Given the description of an element on the screen output the (x, y) to click on. 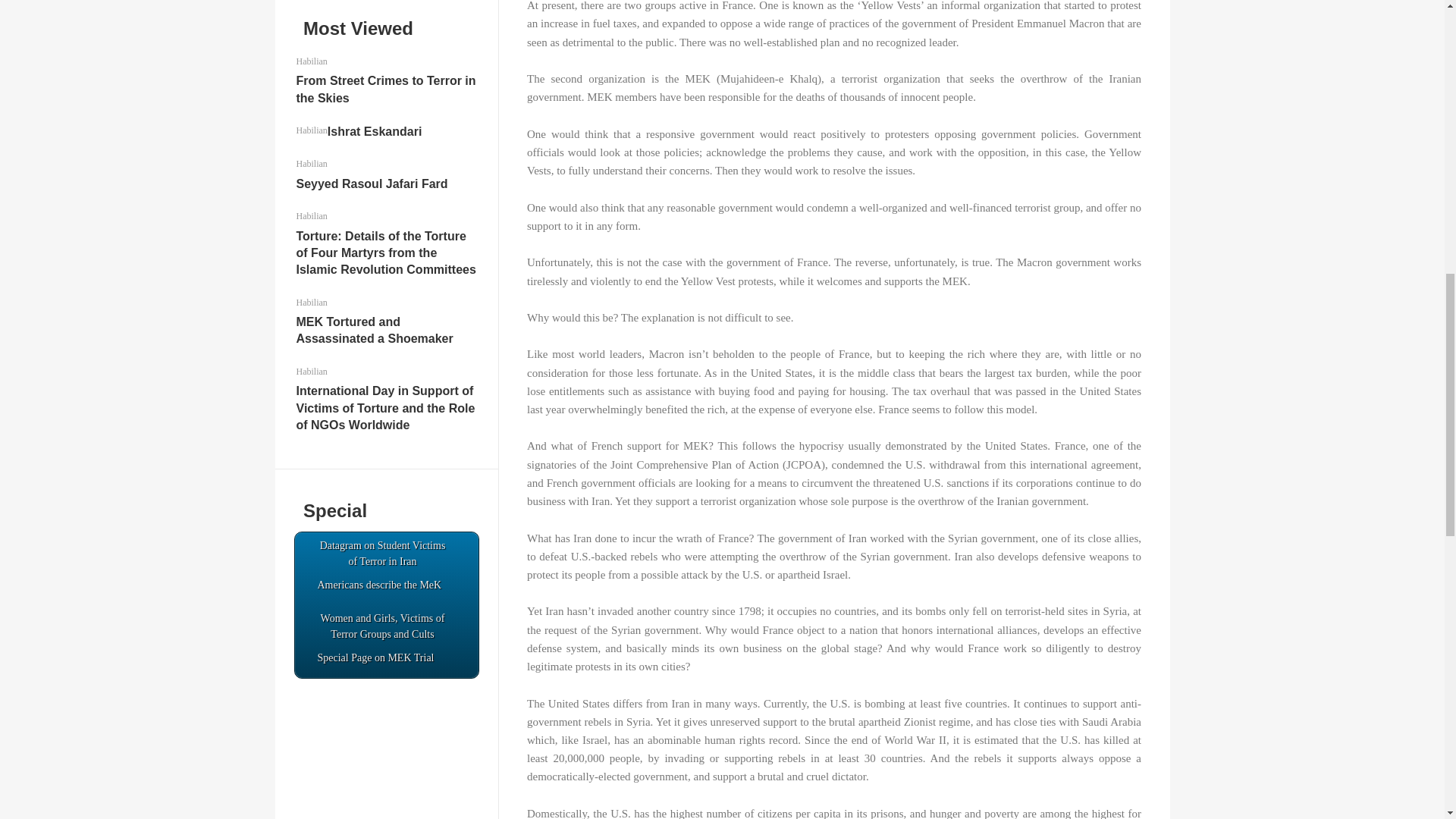
Seyyed Rasoul Jafari Fard (370, 183)
Ishrat Eskandari (374, 131)
MEK Tortured and Assassinated a Shoemaker (373, 329)
From Street Crimes to Terror in the Skies (385, 89)
